Given the description of an element on the screen output the (x, y) to click on. 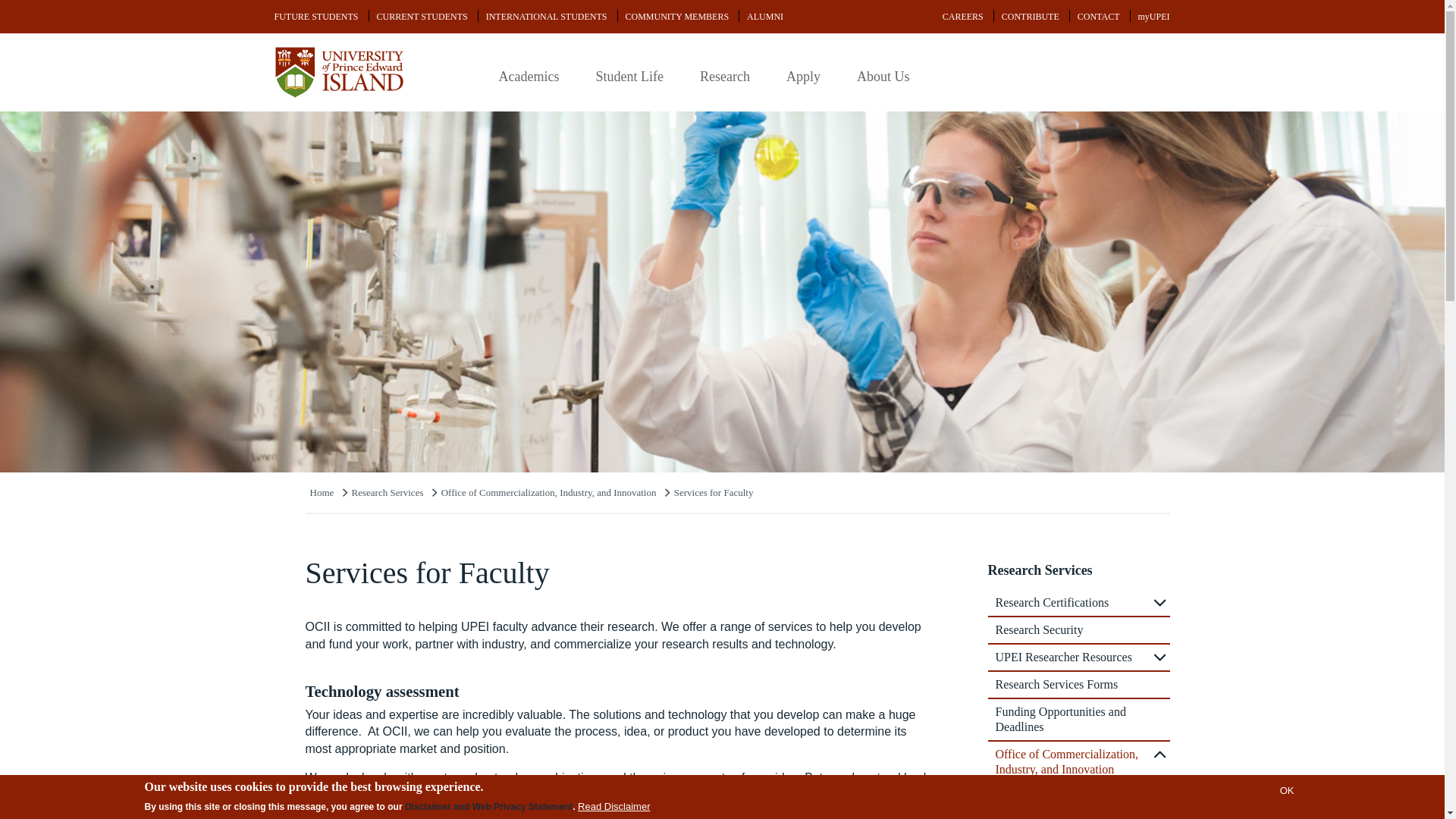
CURRENT STUDENTS (422, 16)
ALUMNI (764, 16)
myUPEI (1152, 16)
FUTURE STUDENTS (316, 16)
INTERNATIONAL STUDENTS (546, 16)
CAREERS (962, 16)
COMMUNITY MEMBERS (676, 16)
CONTRIBUTE (1030, 16)
CONTACT (1098, 16)
